Given the description of an element on the screen output the (x, y) to click on. 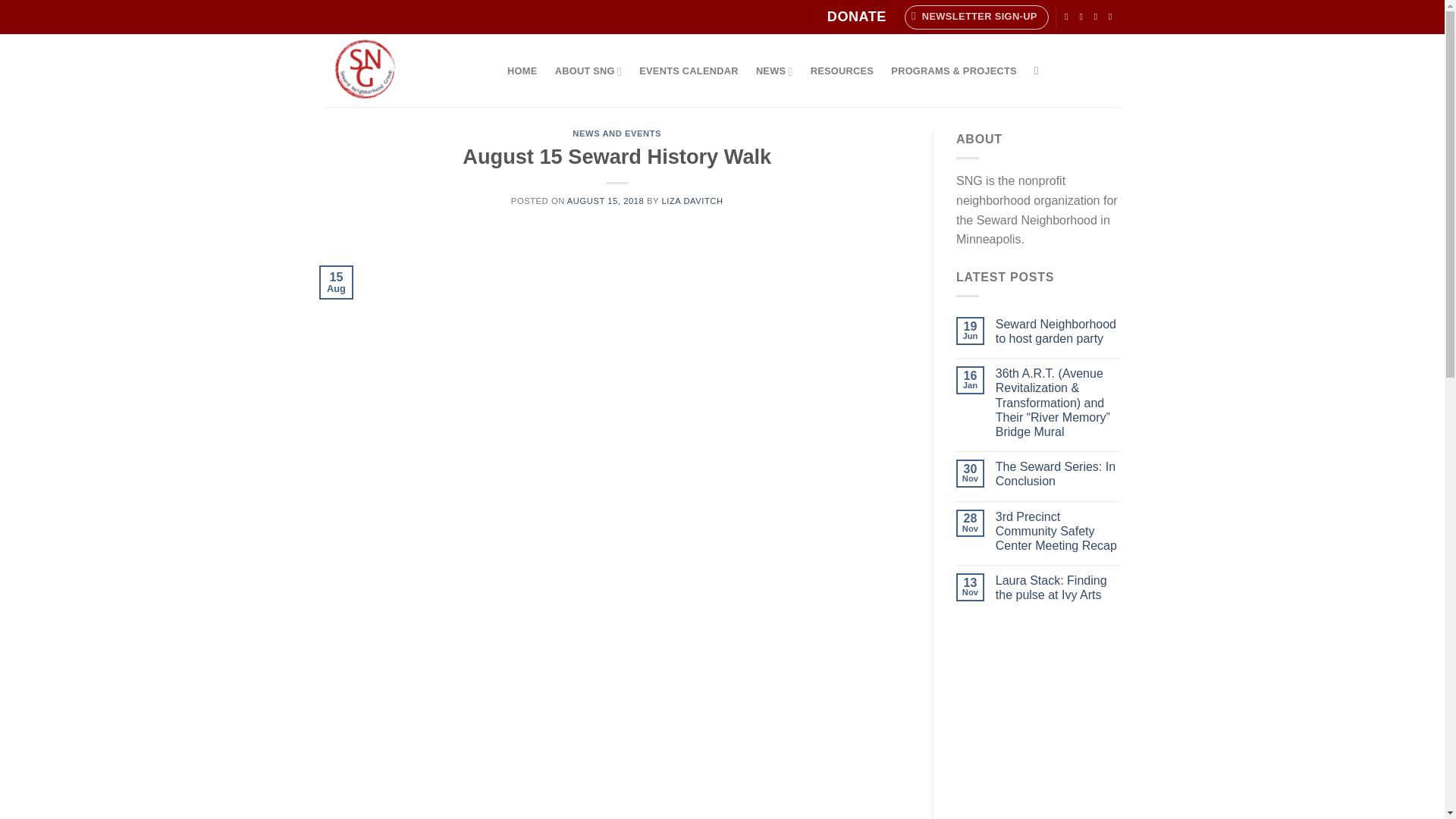
DONATE (855, 17)
RESOURCES (842, 70)
NEWSLETTER SIGN-UP (976, 16)
AUGUST 15, 2018 (605, 200)
Seward Neighborhood Group (400, 70)
HOME (523, 70)
EVENTS CALENDAR (689, 70)
ABOUT SNG (588, 71)
Subscribe to our Newsletter (976, 16)
LIZA DAVITCH (692, 200)
